Given the description of an element on the screen output the (x, y) to click on. 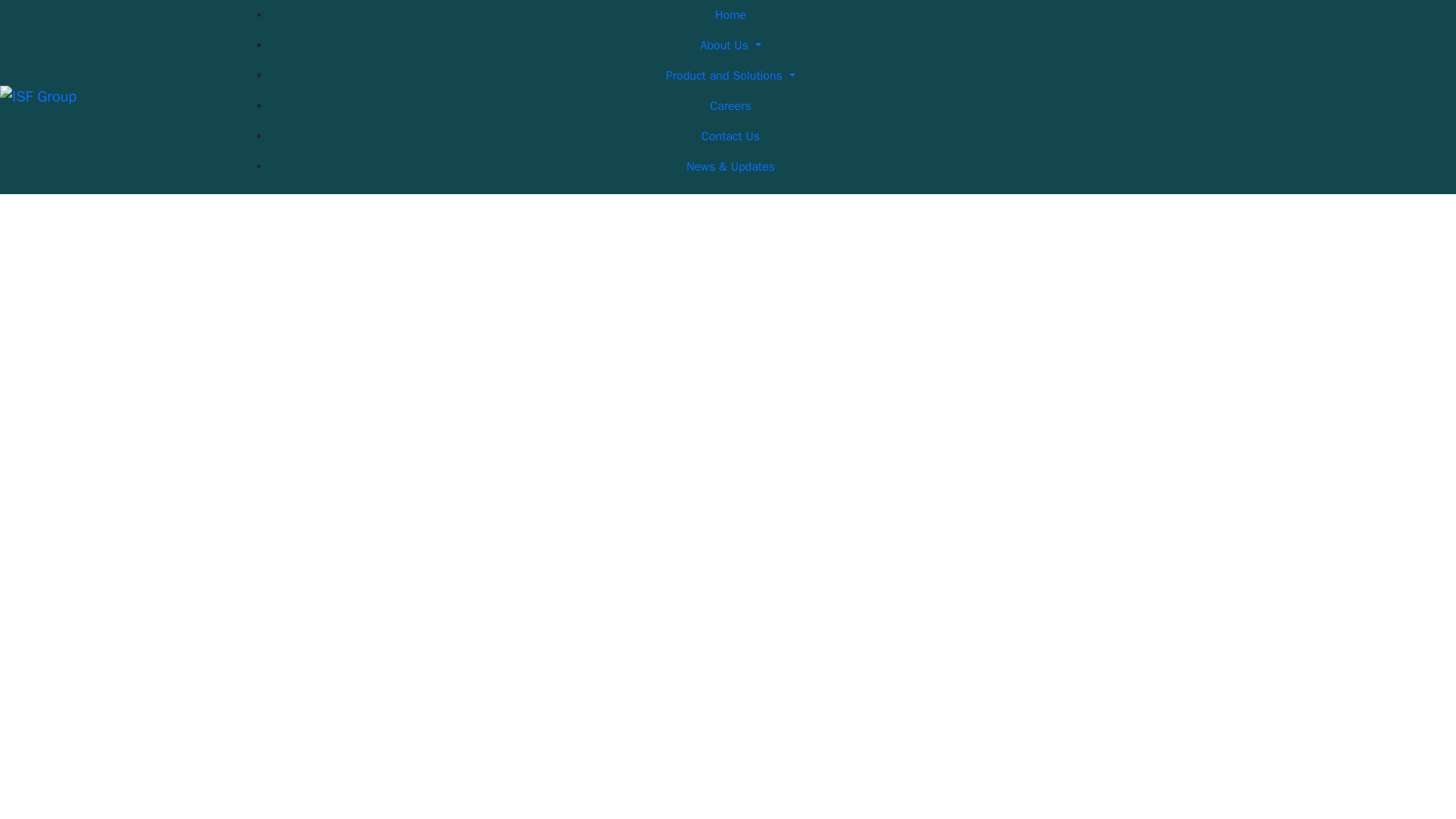
About Us (730, 45)
Home (730, 15)
Contact Us (730, 136)
Product and Solutions (730, 75)
Careers (730, 105)
